Given the description of an element on the screen output the (x, y) to click on. 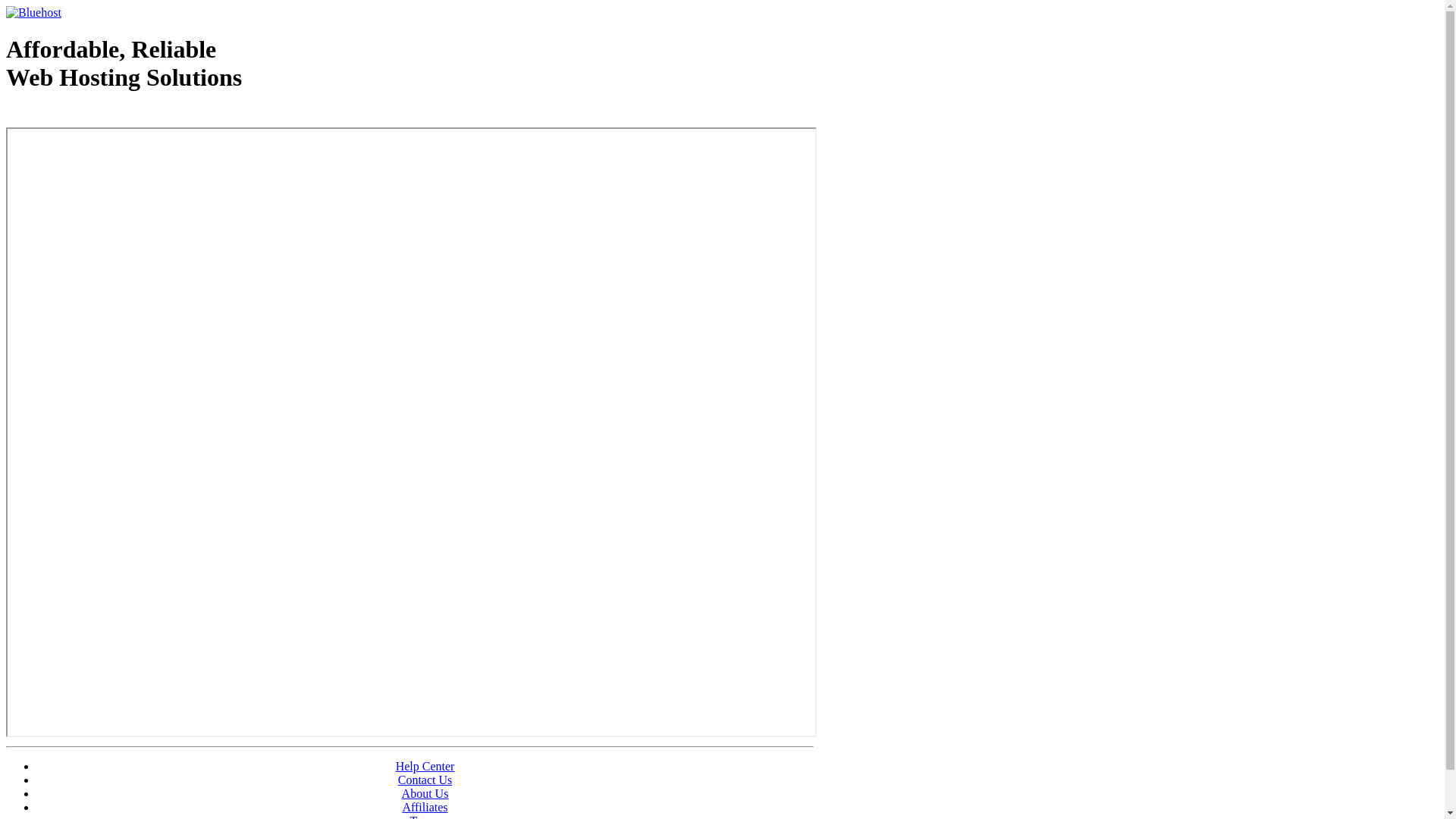
Contact Us Element type: text (425, 779)
Help Center Element type: text (425, 765)
Web Hosting - courtesy of www.bluehost.com Element type: text (94, 115)
About Us Element type: text (424, 793)
Affiliates Element type: text (424, 806)
